Given the description of an element on the screen output the (x, y) to click on. 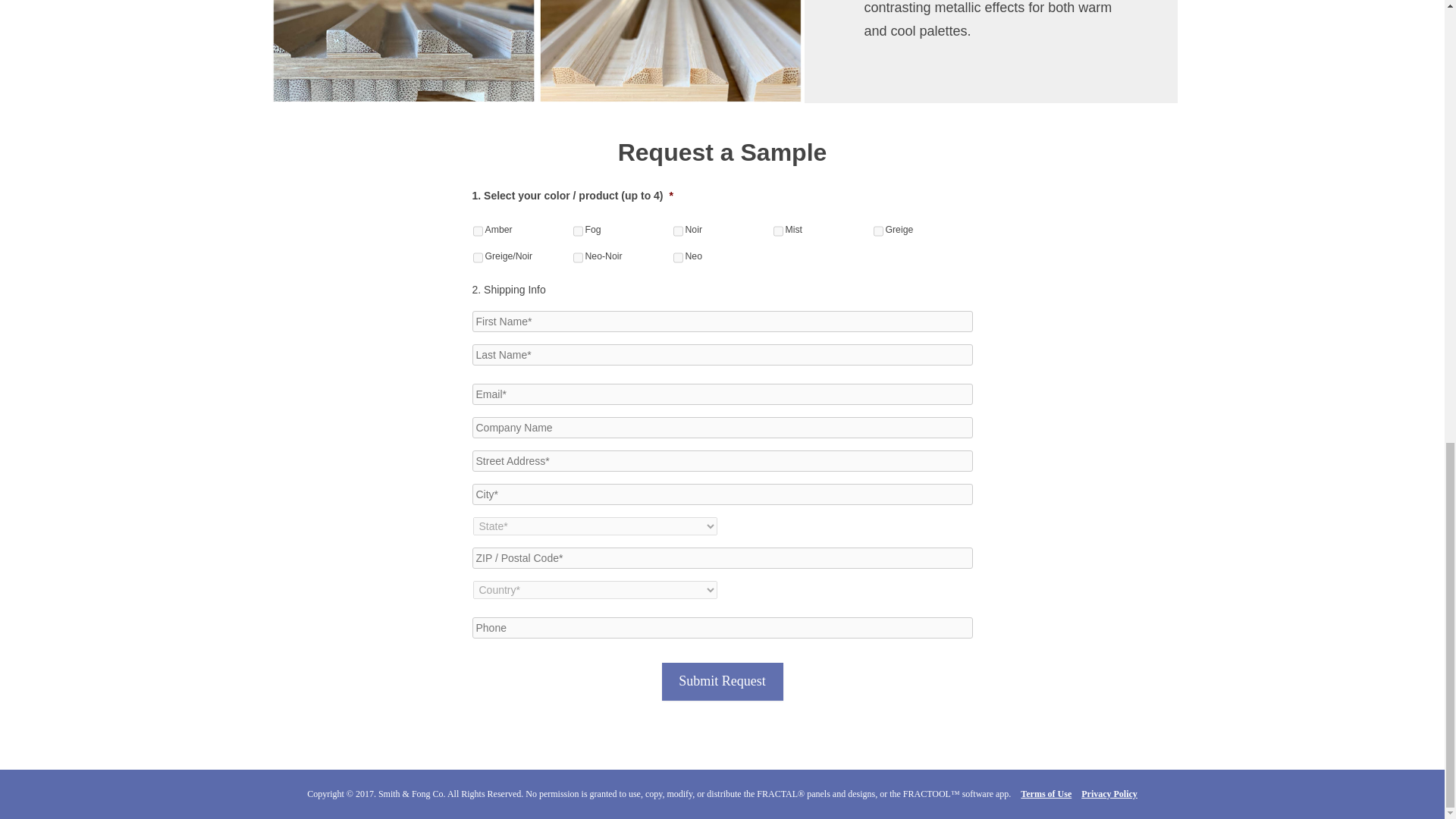
Submit Request (722, 681)
Terms of Use (1045, 793)
Submit Request (722, 681)
Privacy Policy (1109, 793)
